Given the description of an element on the screen output the (x, y) to click on. 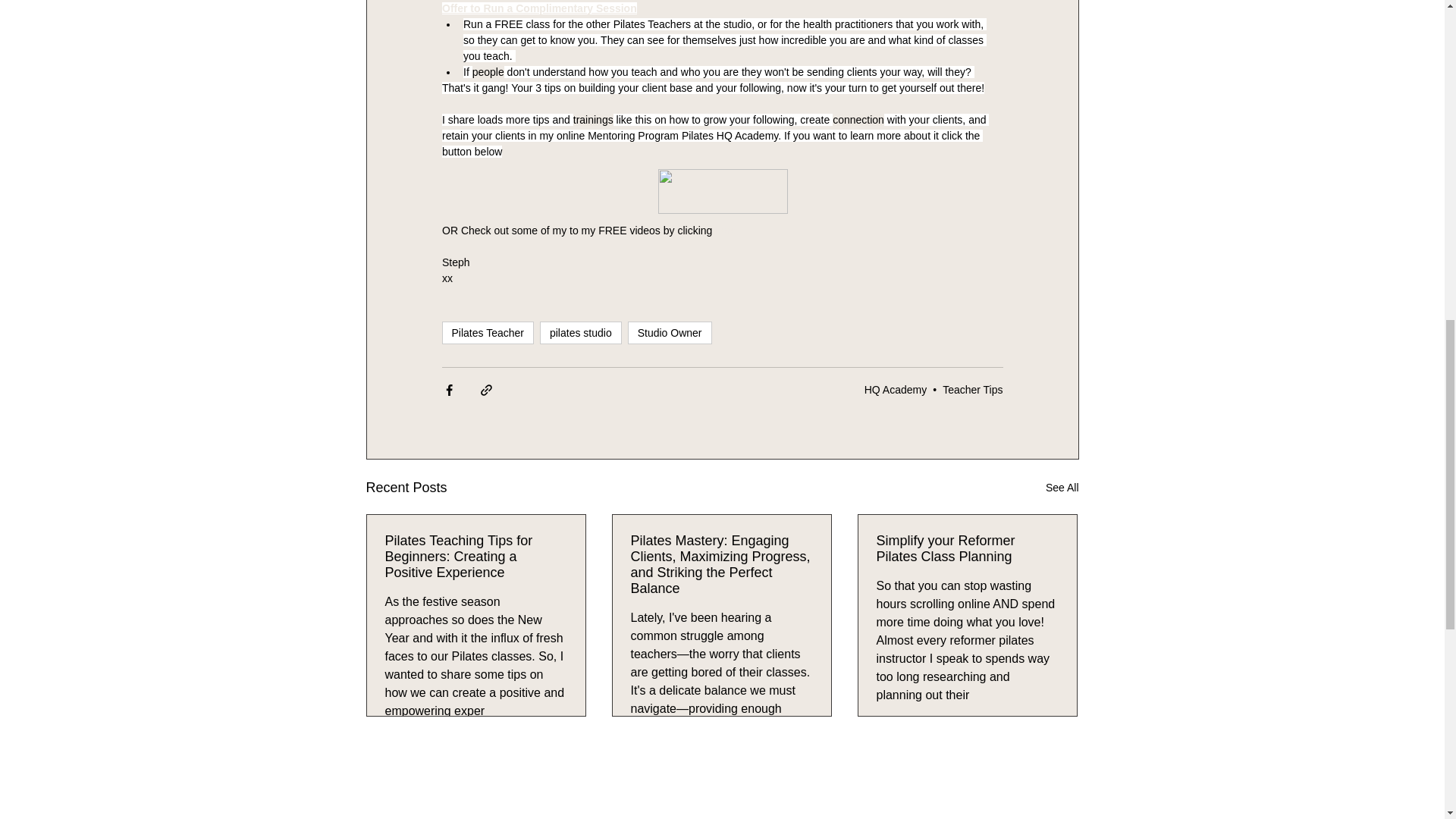
pilates studio (580, 332)
Studio Owner (669, 332)
HOME (420, 812)
Simplify your Reformer Pilates Class Planning (967, 548)
See All (1061, 486)
Teacher Tips (972, 389)
PRICING (555, 812)
Pilates Teacher (486, 332)
here (725, 230)
HQ Academy (895, 389)
